Given the description of an element on the screen output the (x, y) to click on. 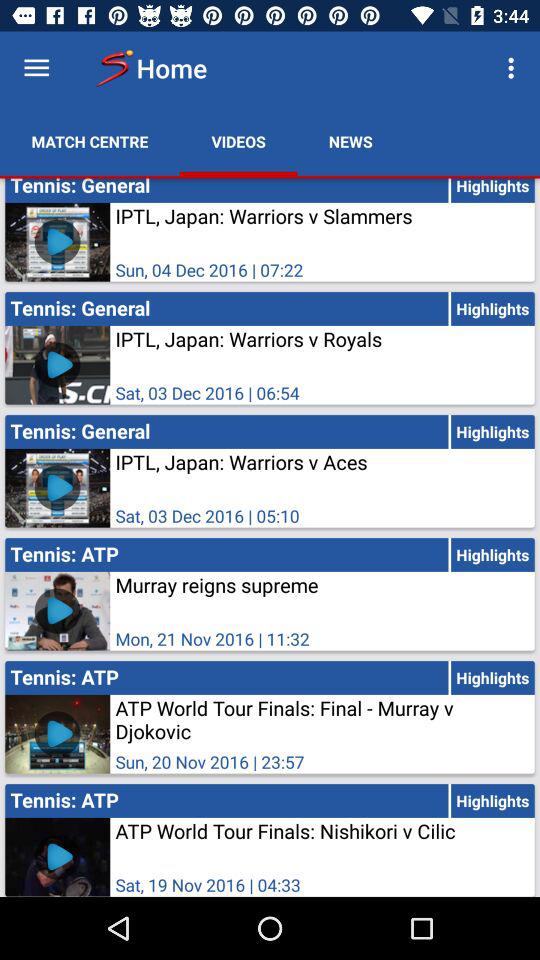
launch item to the left of the videos icon (90, 141)
